Given the description of an element on the screen output the (x, y) to click on. 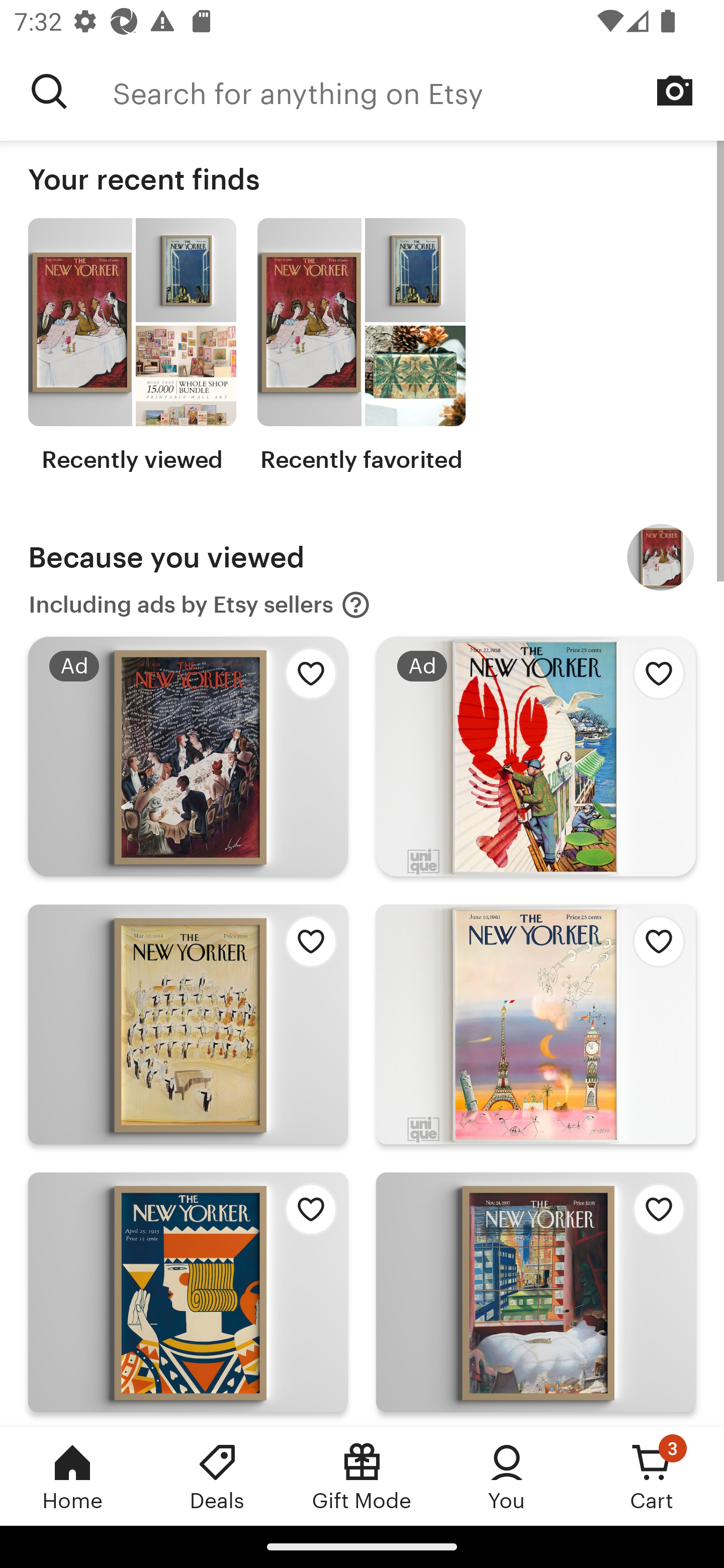
Search for anything on Etsy (49, 91)
Search by image (674, 90)
Search for anything on Etsy (418, 91)
Recently viewed (132, 345)
Recently favorited (361, 345)
Including ads by Etsy sellers (199, 604)
Deals (216, 1475)
Gift Mode (361, 1475)
You (506, 1475)
Cart, 3 new notifications Cart (651, 1475)
